Given the description of an element on the screen output the (x, y) to click on. 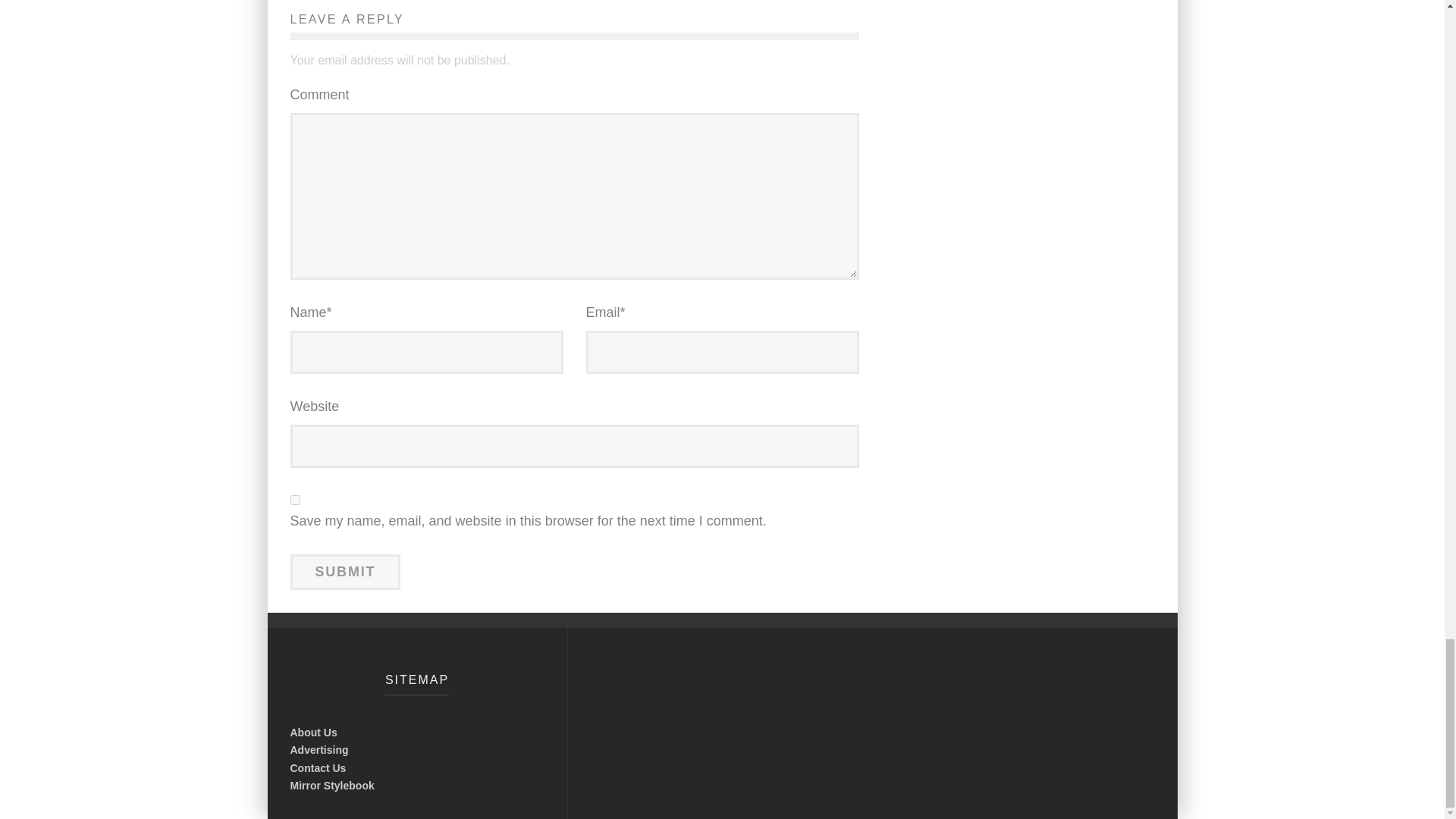
yes (294, 500)
Submit (344, 571)
